Given the description of an element on the screen output the (x, y) to click on. 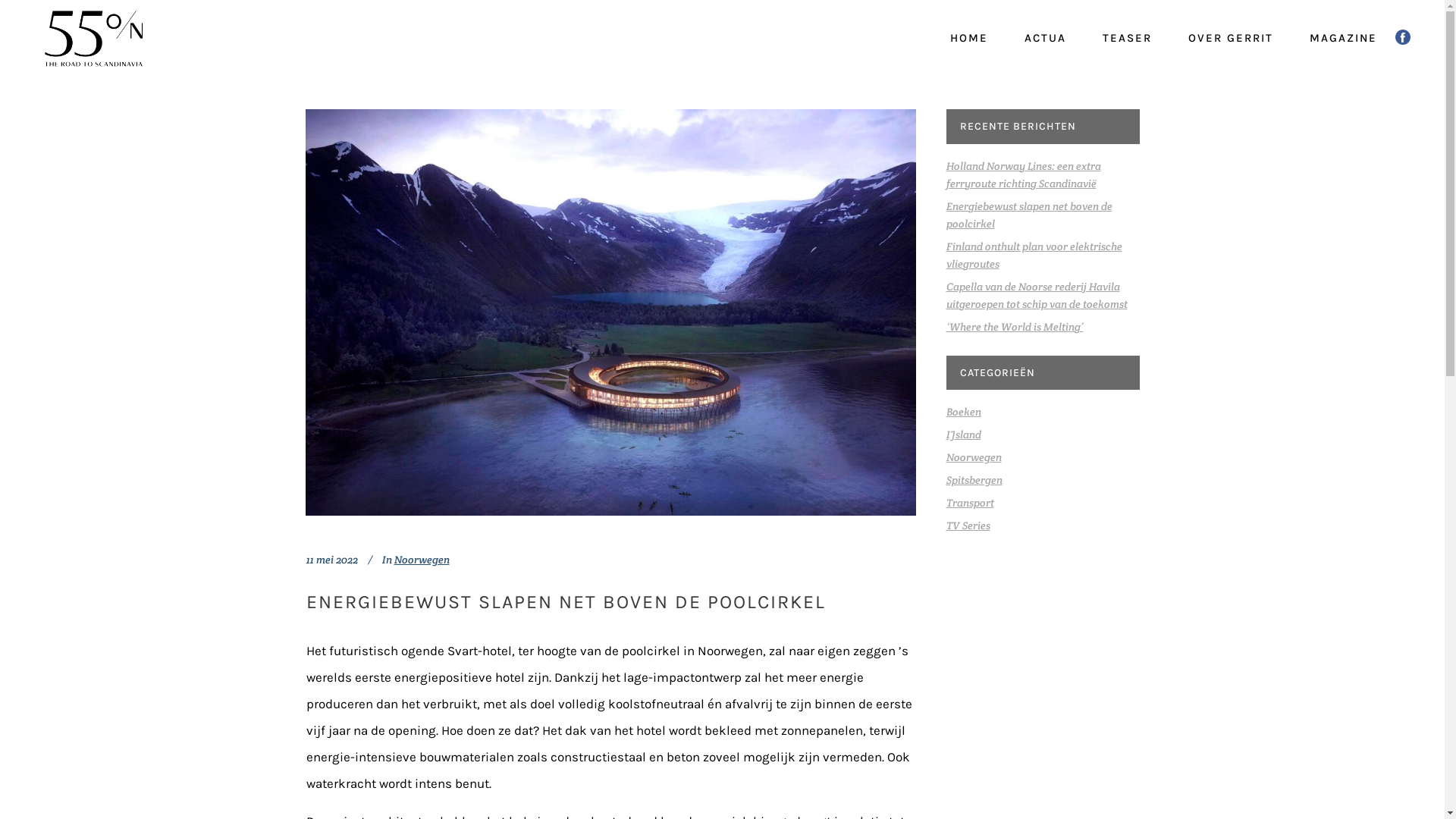
Finland onthult plan voor elektrische vliegroutes Element type: text (1034, 254)
OVER GERRIT Element type: text (1230, 37)
Noorwegen Element type: text (421, 559)
Energiebewust slapen net boven de poolcirkel Element type: text (1029, 214)
MAGAZINE Element type: text (1343, 37)
TV Series Element type: text (968, 525)
Boeken Element type: text (963, 411)
Transport Element type: text (970, 502)
ACTUA Element type: text (1045, 37)
Noorwegen Element type: text (973, 457)
TEASER Element type: text (1127, 37)
HOME Element type: text (968, 37)
Spitsbergen Element type: text (974, 479)
IJsland Element type: text (963, 434)
